Given the description of an element on the screen output the (x, y) to click on. 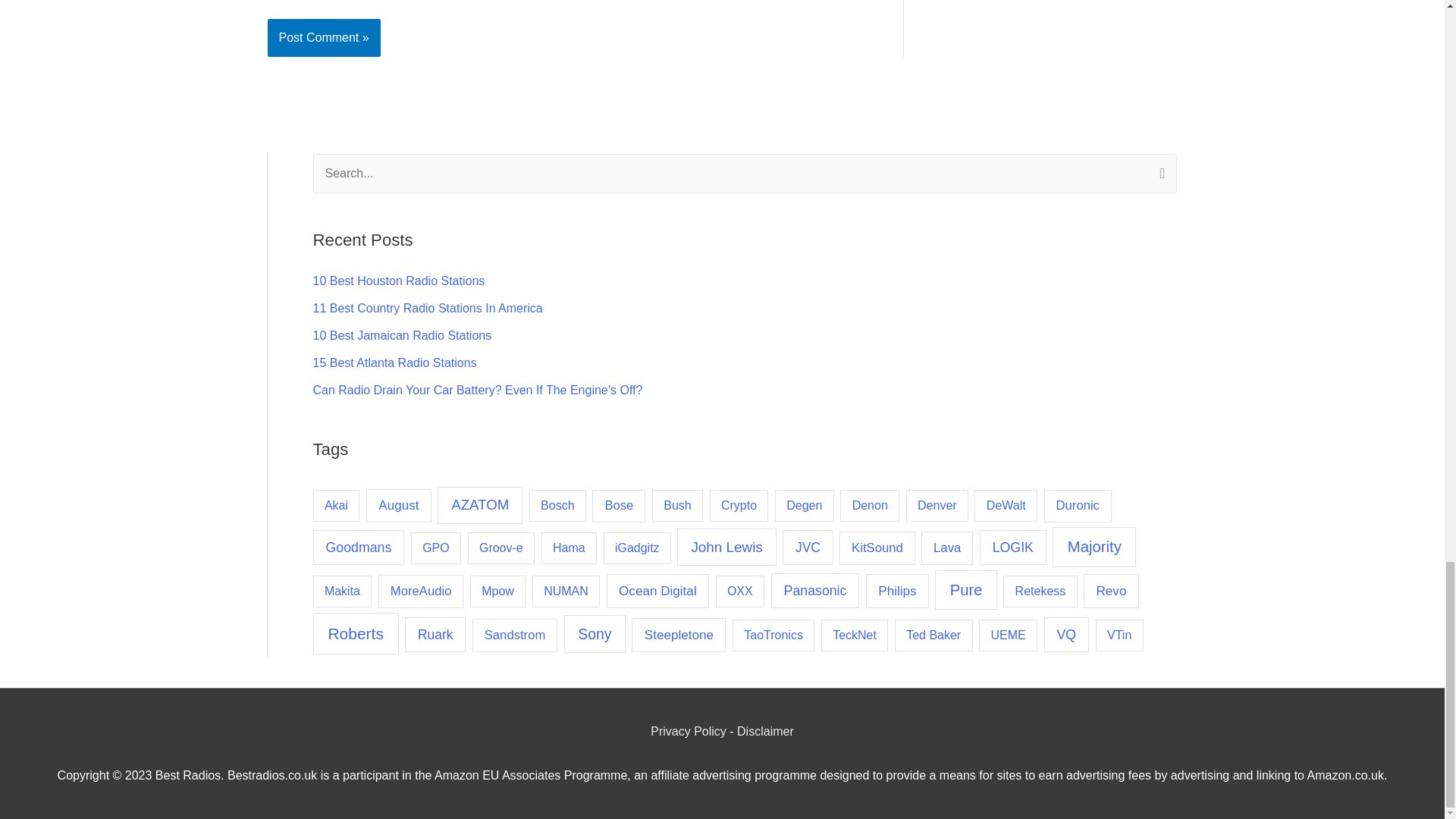
11 Best Country Radio Stations In America (427, 308)
Duronic (1077, 506)
Crypto (739, 505)
DeWalt (1005, 505)
10 Best Houston Radio Stations (398, 280)
August (398, 505)
Denon (869, 505)
Groov-e (501, 548)
Goodmans (358, 547)
GPO (435, 548)
